Given the description of an element on the screen output the (x, y) to click on. 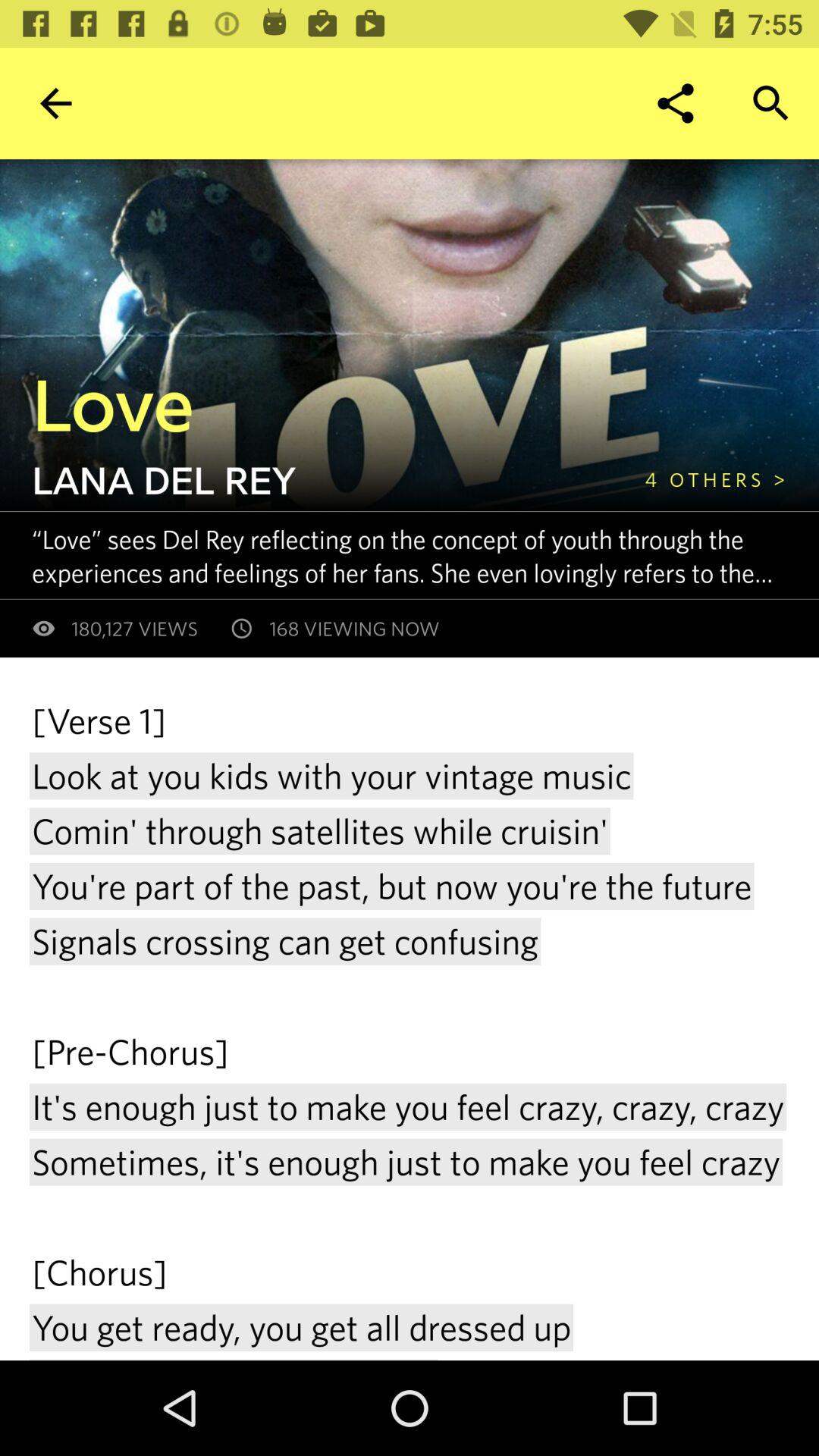
click the icon to the right of the lana del rey icon (715, 479)
